Given the description of an element on the screen output the (x, y) to click on. 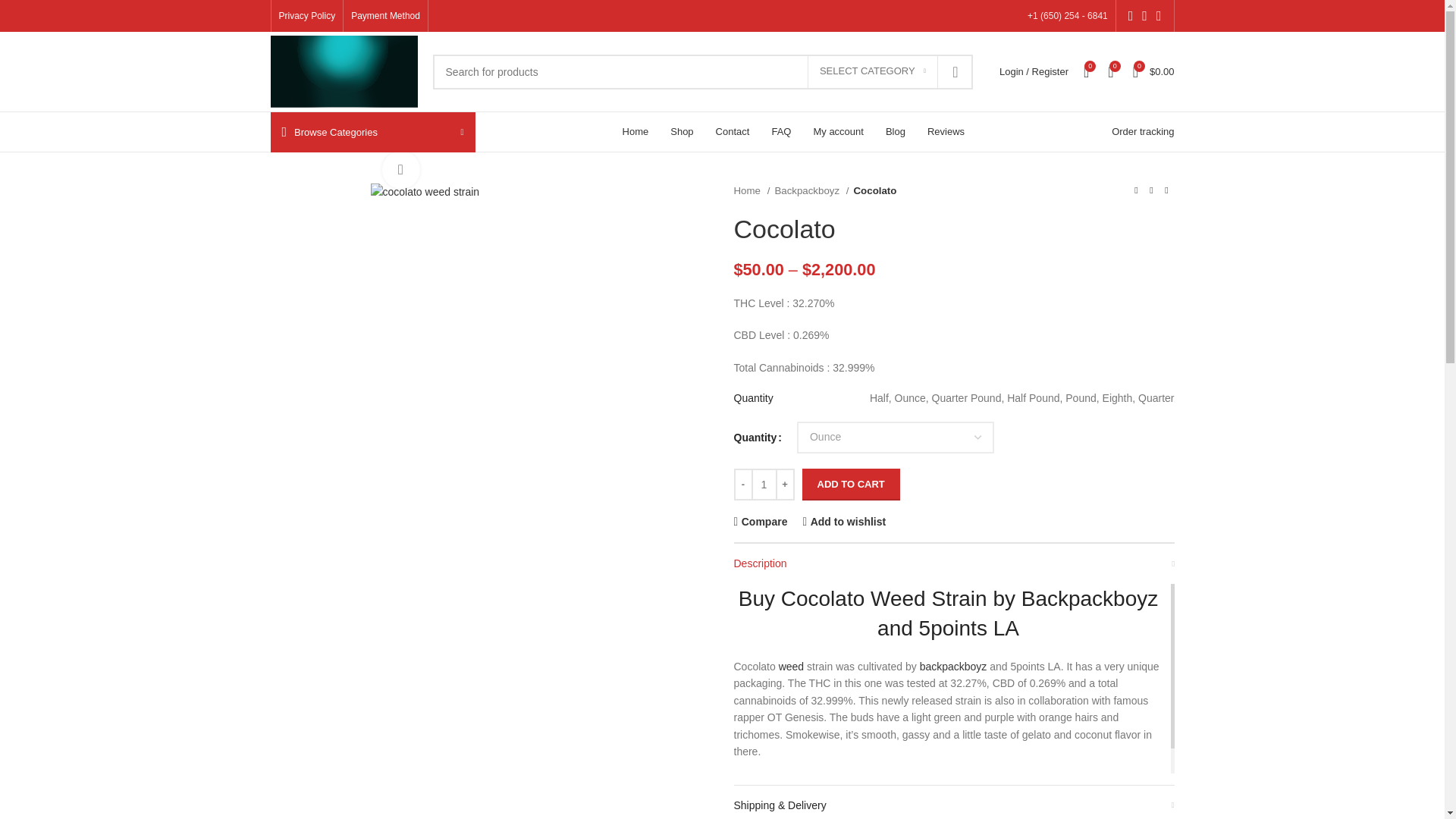
My account (1033, 71)
Payment Method (385, 15)
SELECT CATEGORY (872, 71)
Privacy Policy (307, 15)
SELECT CATEGORY (872, 71)
Shopping cart (1153, 71)
cocolato weed strain (424, 191)
Search for products (702, 71)
